Given the description of an element on the screen output the (x, y) to click on. 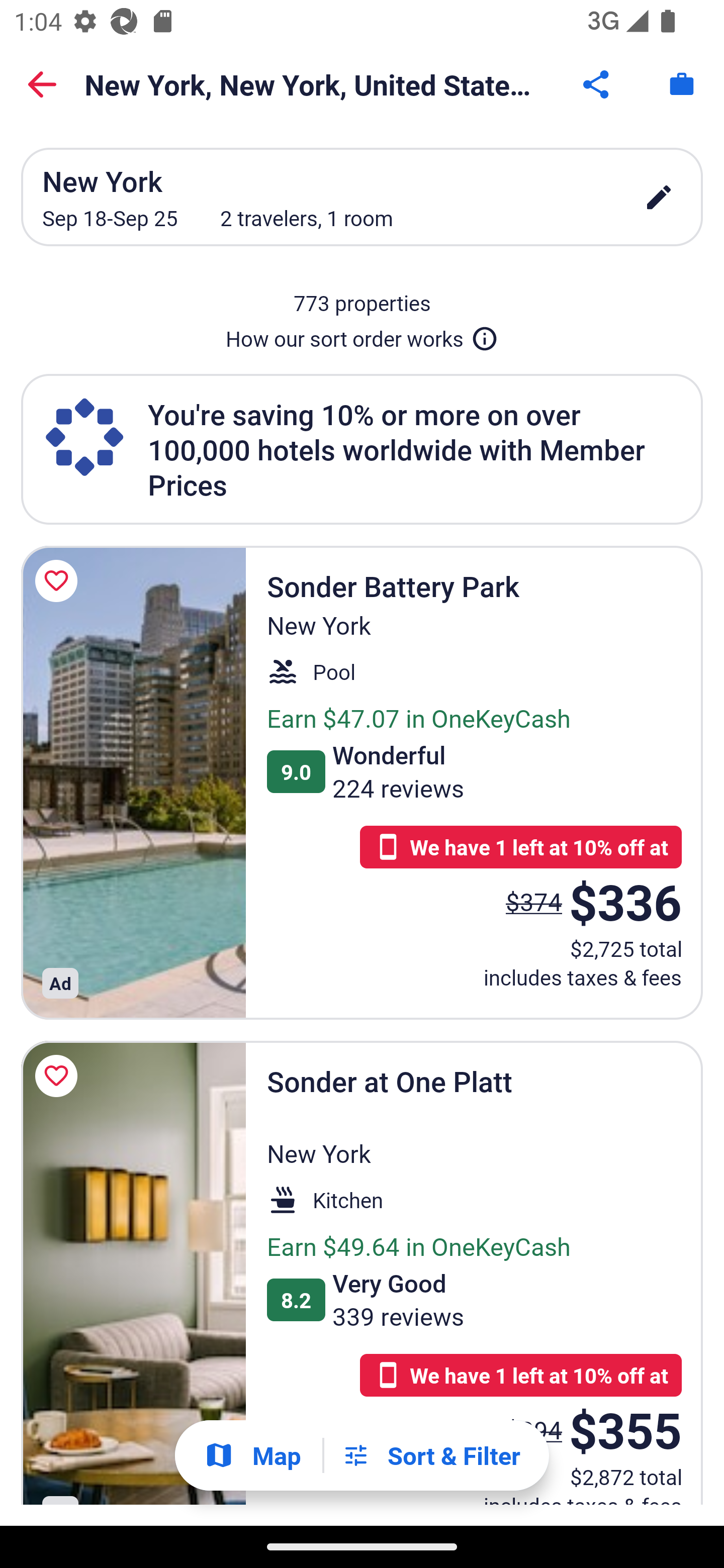
Back (42, 84)
Share Button (597, 84)
Trips. Button (681, 84)
New York Sep 18-Sep 25 2 travelers, 1 room edit (361, 196)
How our sort order works (361, 334)
Save Sonder Battery Park to a trip (59, 580)
Sonder Battery Park (133, 782)
$374 The price was $374 (533, 901)
Save Sonder at One Platt to a trip (59, 1075)
Sonder at One Platt (133, 1273)
Filters Sort & Filter Filters Button (430, 1455)
Show map Map Show map Button (252, 1455)
